Given the description of an element on the screen output the (x, y) to click on. 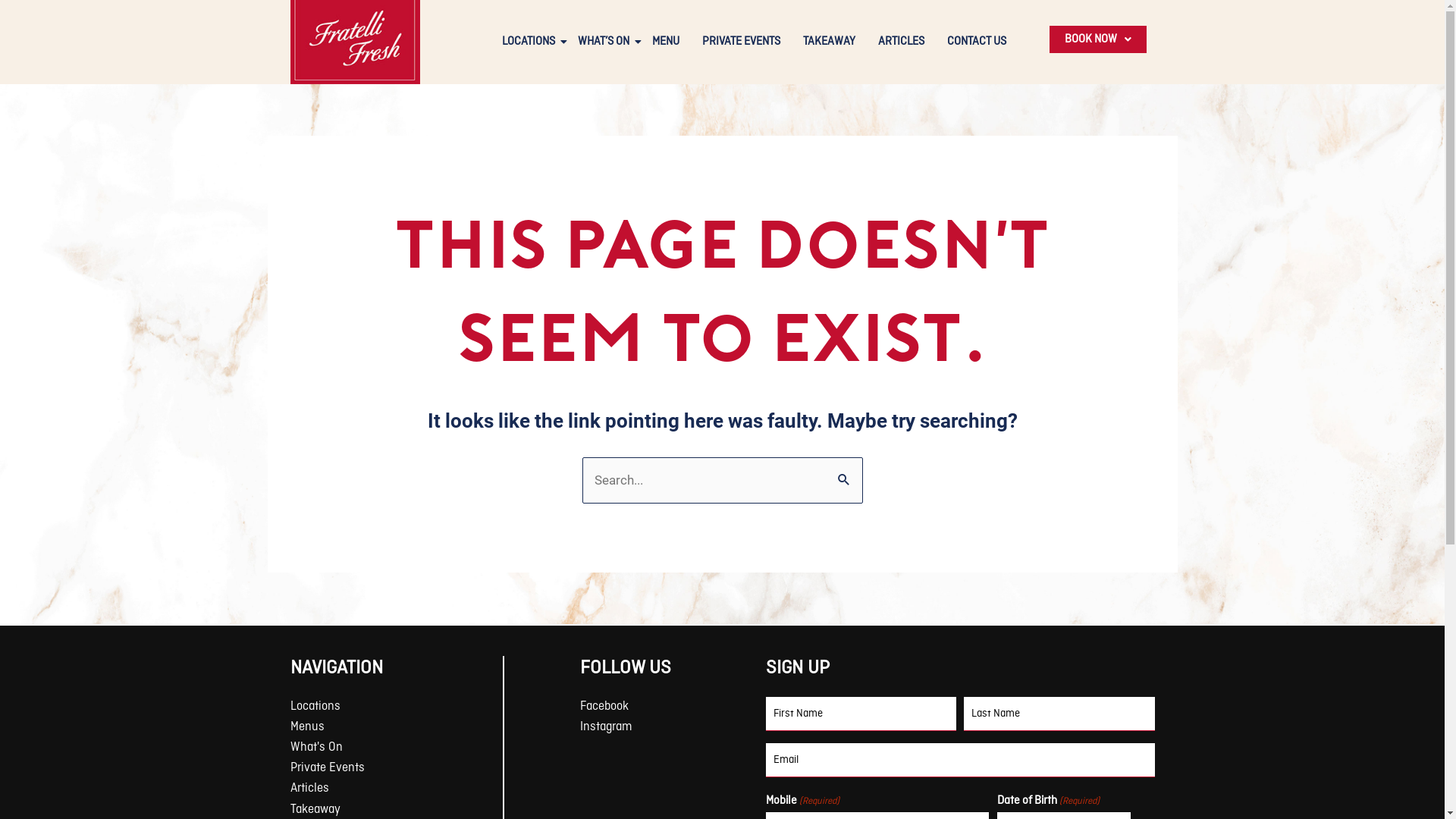
CONTACT US Element type: text (976, 41)
Search Element type: text (845, 473)
LOCATIONS Element type: text (528, 41)
TAKEAWAY Element type: text (829, 41)
What's On Element type: text (395, 747)
Menus Element type: text (395, 727)
Instagram Element type: text (672, 727)
ARTICLES Element type: text (901, 41)
Facebook Element type: text (672, 706)
PRIVATE EVENTS Element type: text (741, 41)
BOOK NOW Element type: text (1097, 39)
Private Events Element type: text (395, 768)
Articles Element type: text (395, 788)
Locations Element type: text (395, 706)
MENU Element type: text (665, 41)
